Given the description of an element on the screen output the (x, y) to click on. 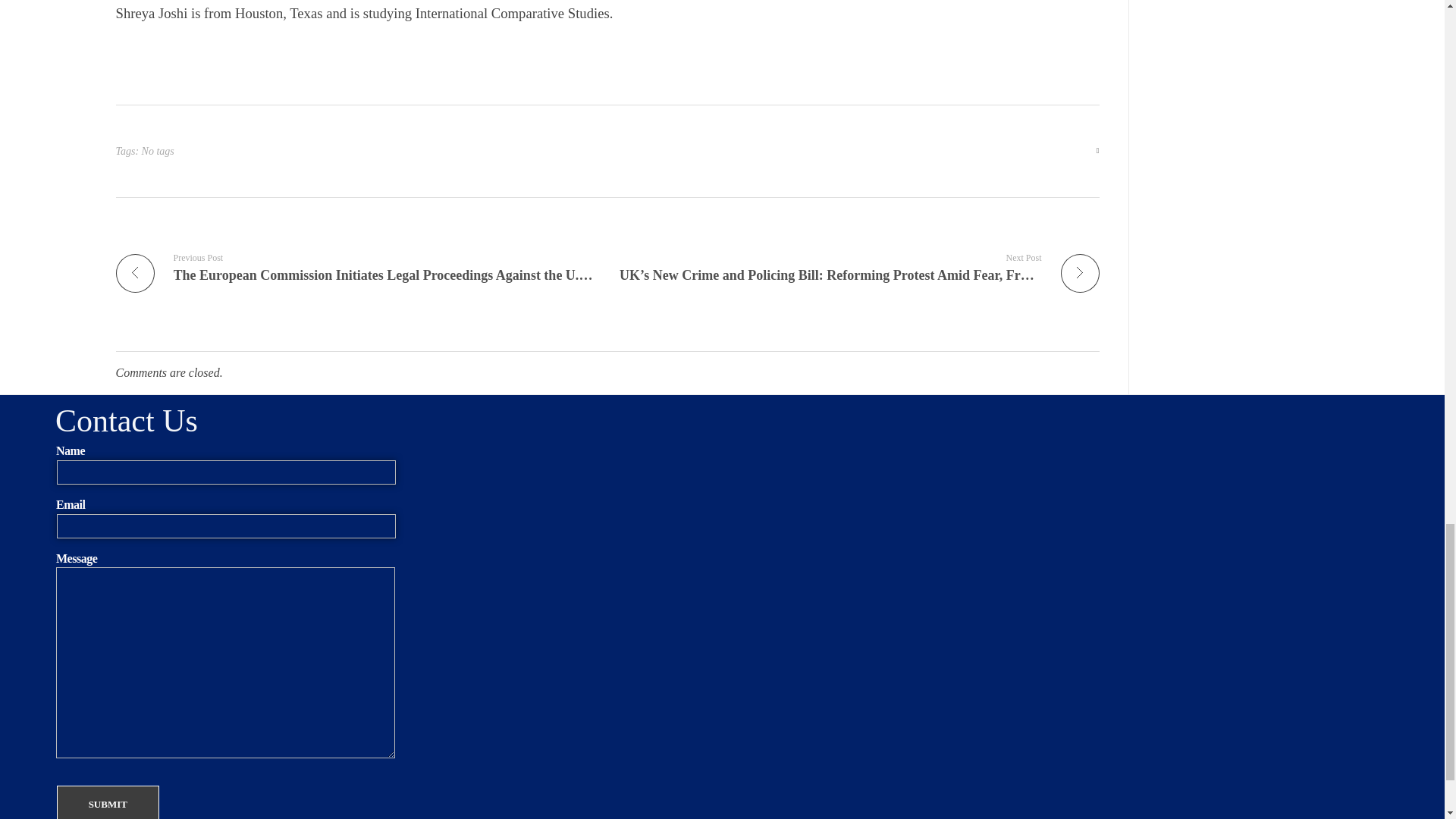
Submit (107, 802)
